Given the description of an element on the screen output the (x, y) to click on. 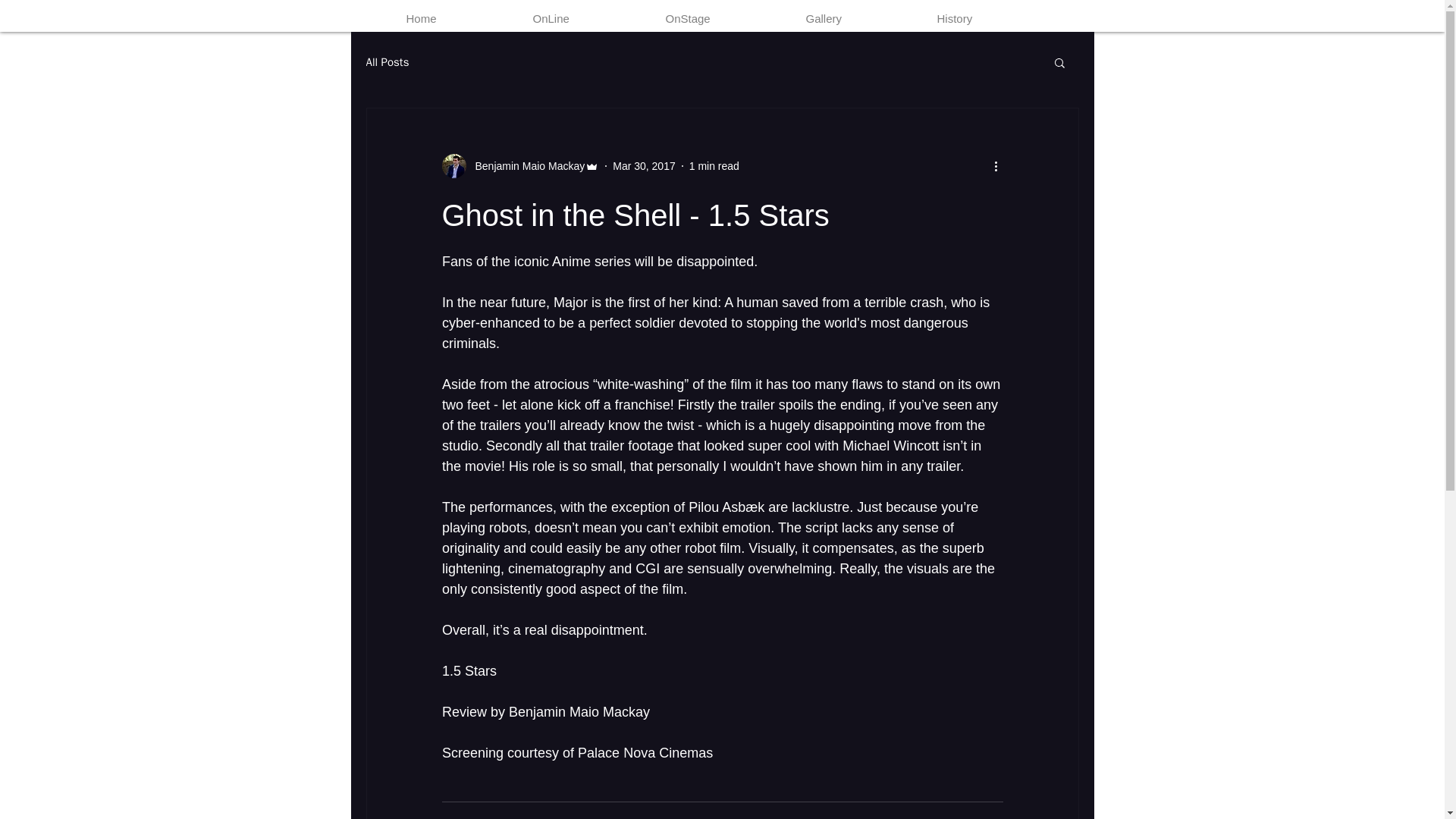
Home (461, 18)
Mar 30, 2017 (643, 164)
History (994, 18)
Gallery (862, 18)
1 min read (713, 164)
Benjamin Maio Mackay (525, 165)
OnStage (727, 18)
All Posts (387, 61)
OnLine (591, 18)
